Given the description of an element on the screen output the (x, y) to click on. 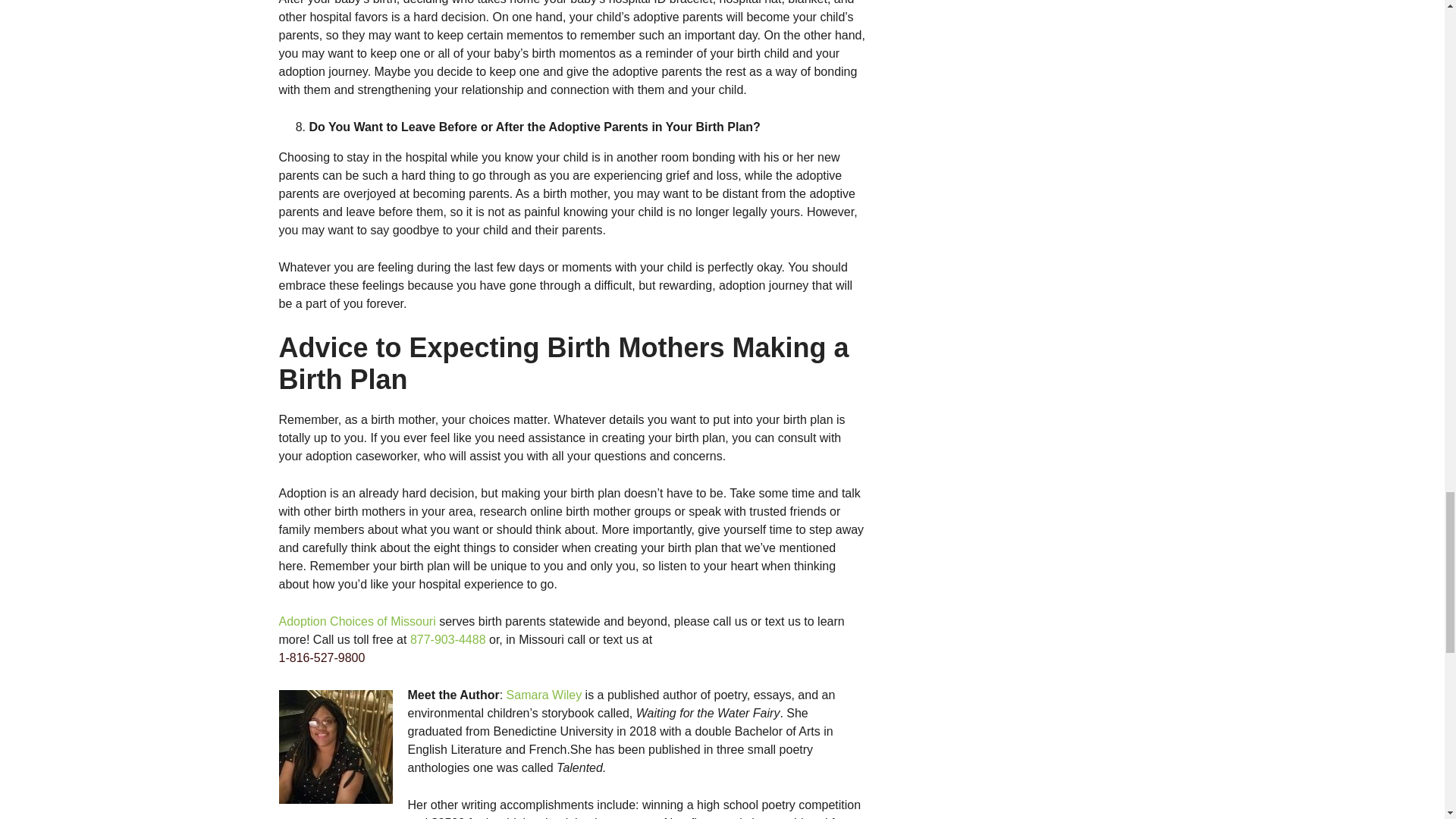
Samara Wiley (544, 694)
877-903-4488 (448, 639)
Adoption Choices of Missouri (357, 621)
1-816-527-9800 (572, 666)
